Given the description of an element on the screen output the (x, y) to click on. 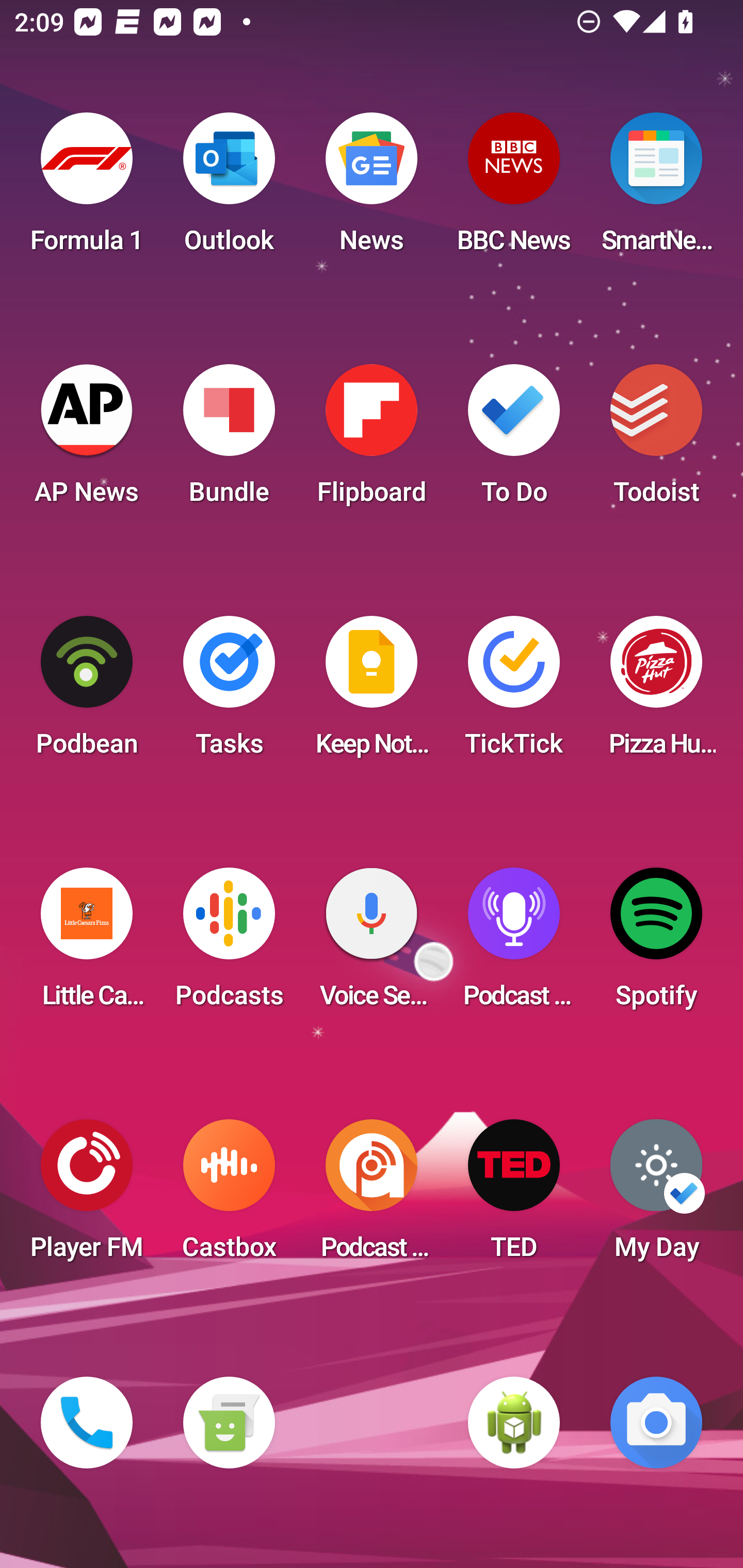
Formula 1 (86, 188)
Outlook (228, 188)
News (371, 188)
BBC News (513, 188)
SmartNews (656, 188)
AP News (86, 440)
Bundle (228, 440)
Flipboard (371, 440)
To Do (513, 440)
Todoist (656, 440)
Podbean (86, 692)
Tasks (228, 692)
Keep Notes (371, 692)
TickTick (513, 692)
Pizza Hut HK & Macau (656, 692)
Little Caesars Pizza (86, 943)
Podcasts (228, 943)
Voice Search (371, 943)
Podcast Player (513, 943)
Spotify (656, 943)
Player FM (86, 1195)
Castbox (228, 1195)
Podcast Addict (371, 1195)
TED (513, 1195)
My Day (656, 1195)
Phone (86, 1422)
Messaging (228, 1422)
WebView Browser Tester (513, 1422)
Camera (656, 1422)
